Given the description of an element on the screen output the (x, y) to click on. 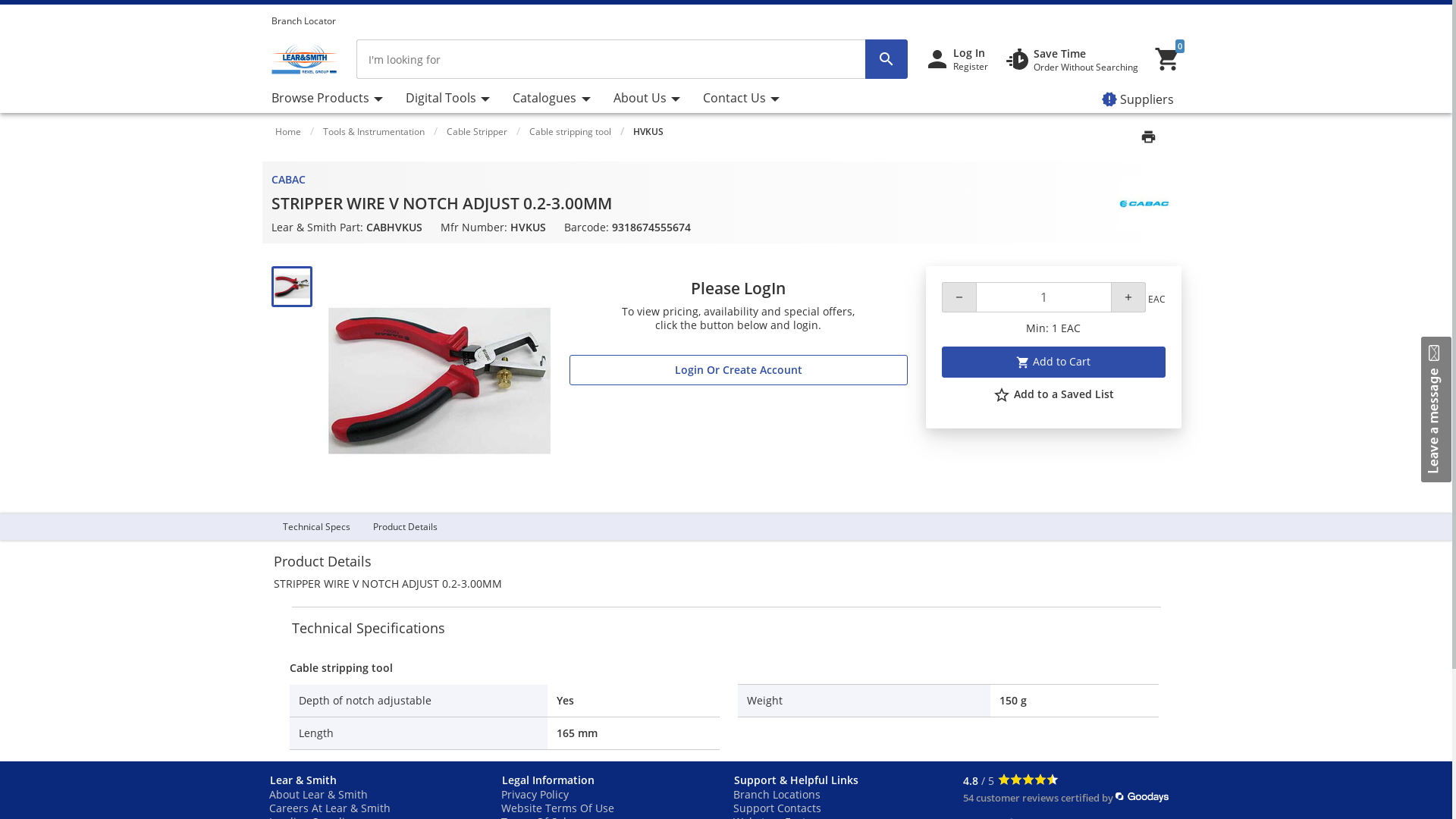
Careers At Lear & Smith Element type: text (328, 807)
Save Time
Order Without Searching Element type: text (1071, 58)
Legal Information Element type: text (610, 779)
Contact Us Element type: text (740, 98)
Home Element type: text (287, 131)
star_border Add to a Saved List Element type: text (1052, 394)
Cable Stripper Element type: text (475, 131)
Cable stripping tool Element type: text (570, 131)
Technical Specs Element type: text (316, 526)
CABAC Element type: text (288, 179)
Support & Helpful Links Element type: text (842, 779)
Digital Tools Element type: text (447, 98)
Tools & Instrumentation Element type: text (373, 131)
Register Element type: text (969, 65)
Login Or Create Account Element type: text (737, 369)
Website Terms Of Use Element type: text (556, 807)
Privacy Policy Element type: text (533, 794)
Lear & Smith Element type: text (378, 779)
About Lear & Smith Element type: text (317, 794)
Branch Locator Element type: text (311, 20)
Catalogues Element type: text (551, 98)
Positive integer for quantity Element type: hover (1042, 297)
HVKUS Element type: text (647, 131)
Support Contacts Element type: text (776, 807)
Browse Products Element type: text (332, 98)
Lear & Smith Home Element type: hover (304, 58)
Branch Locations Element type: text (775, 794)
About Us Element type: text (646, 98)
Log In Element type: text (968, 52)
Product Details Element type: text (404, 526)
